Given the description of an element on the screen output the (x, y) to click on. 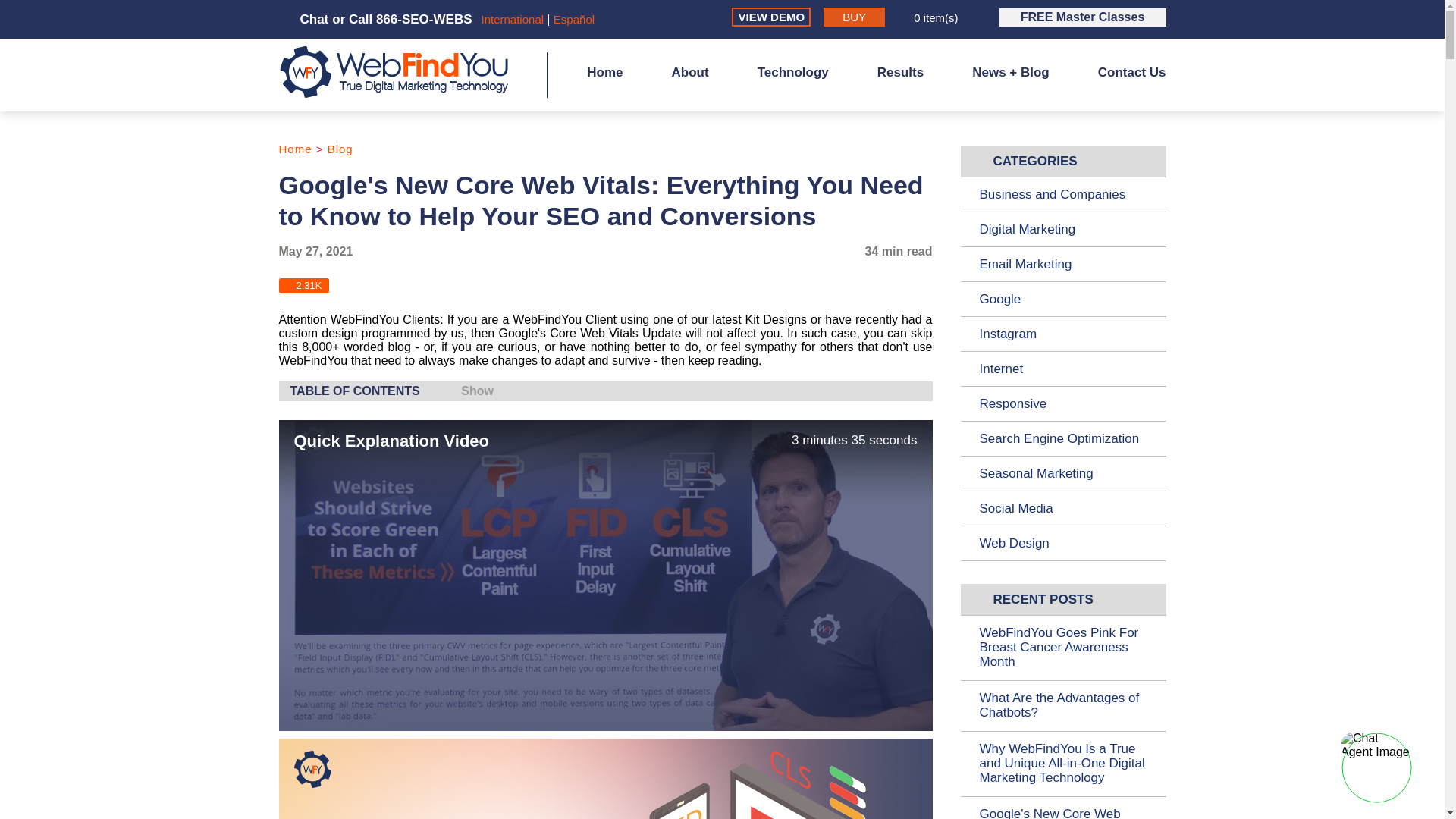
866-SEO-WEBS (423, 19)
FREE Master Classes (1082, 17)
Technology (792, 86)
Home (296, 148)
BUY (854, 16)
FREE True Digital Marketing Master Class (1082, 17)
Buy WebFindYou (854, 16)
About Our Technology (792, 86)
Results (900, 86)
View Demo (771, 16)
Blog (340, 148)
WebFindYou International (513, 19)
International (513, 19)
Contact Us (1131, 86)
Results (900, 86)
